Given the description of an element on the screen output the (x, y) to click on. 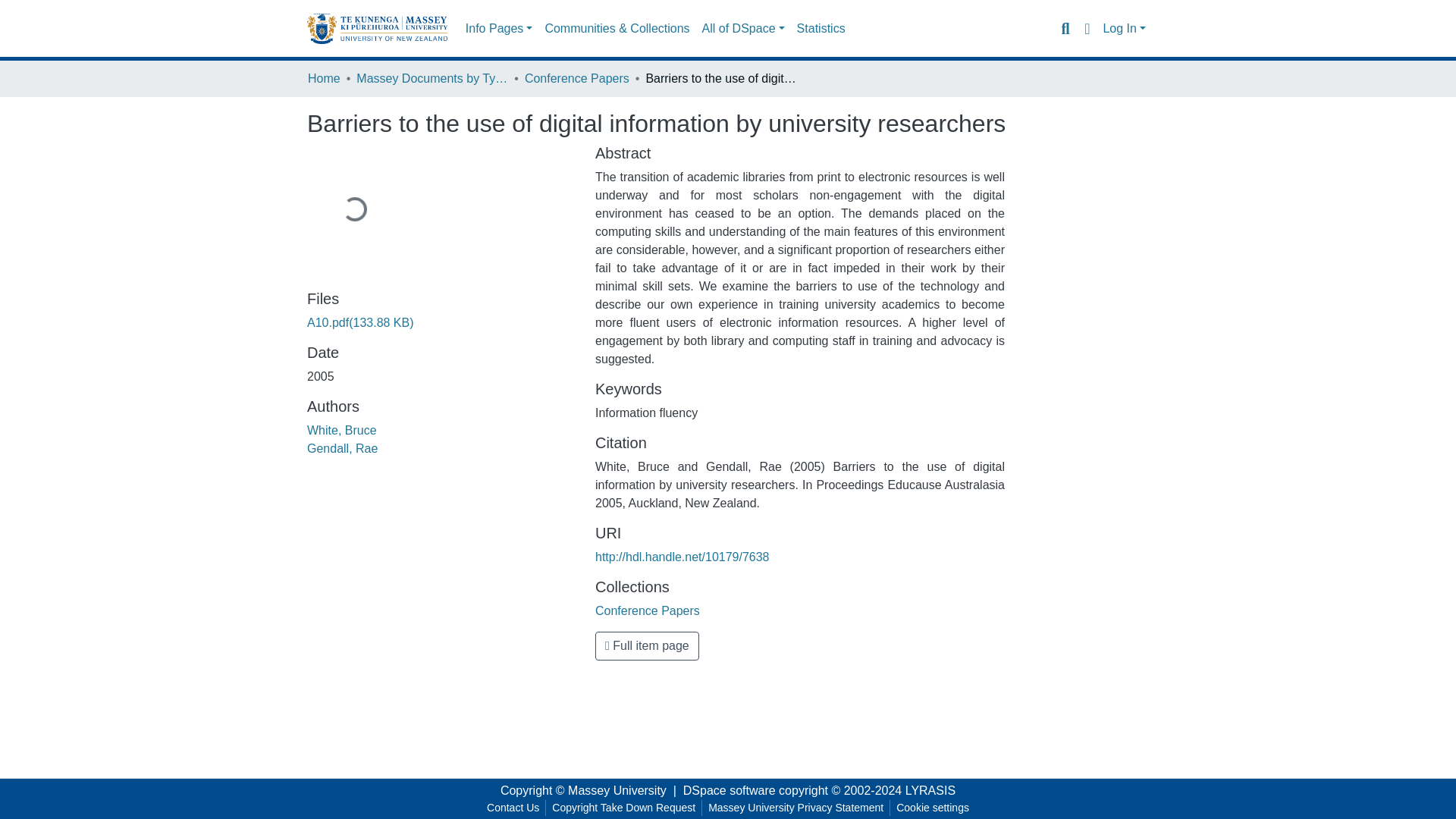
Language switch (1086, 28)
Gendall, Rae (342, 448)
Statistics (820, 28)
LYRASIS (930, 789)
Contact Us (512, 807)
Log In (1123, 28)
Info Pages (499, 28)
White, Bruce (342, 430)
Search (1064, 28)
Conference Papers (576, 78)
